Given the description of an element on the screen output the (x, y) to click on. 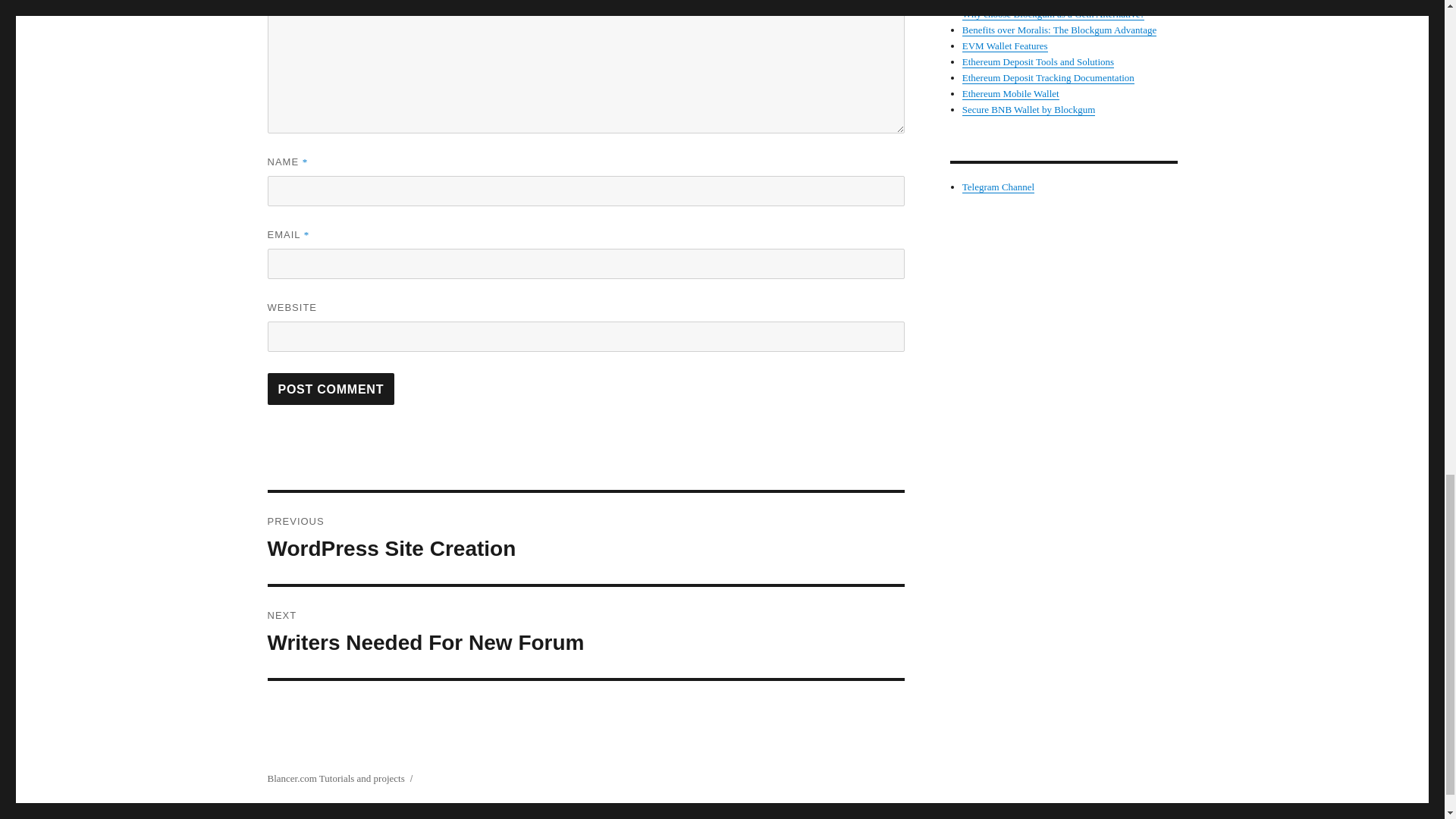
EVM Wallet Features (1005, 45)
Why choose Blockgum as a Geth Alternative? (1053, 13)
Ethereum Mobile Wallet (1010, 93)
Post Comment (330, 388)
Benefits over Moralis: The Blockgum Advantage (1059, 30)
Telegram channel (997, 186)
Discover the Ethereum Wallet (1021, 2)
Ethereum Deposit Tracking Documentation (585, 538)
Ethereum Deposit Tools and Solutions (1048, 77)
Post Comment (1037, 61)
